Given the description of an element on the screen output the (x, y) to click on. 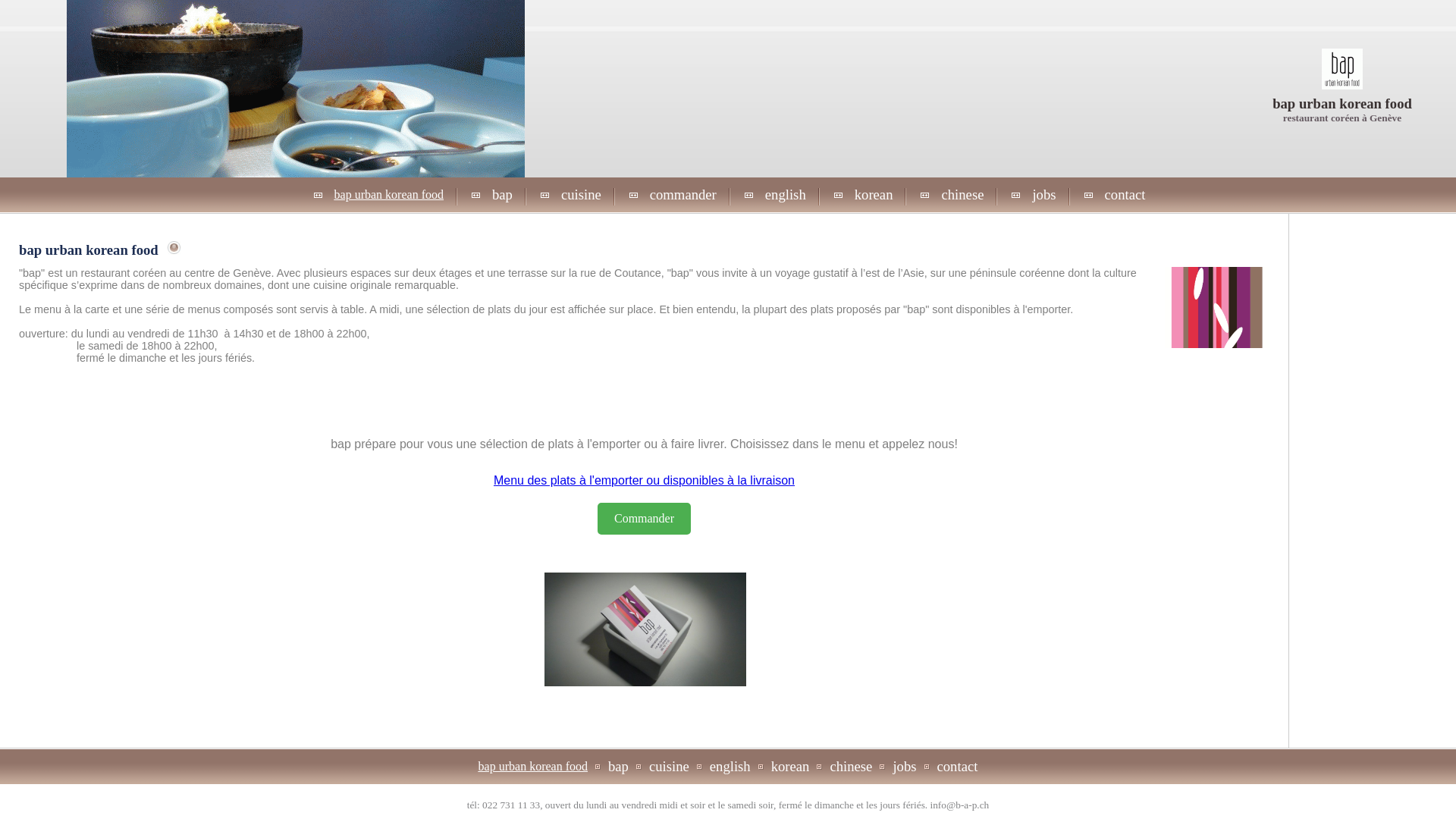
Commander Element type: text (643, 518)
jobs Element type: text (1043, 194)
chinese Element type: text (961, 194)
bap Element type: text (501, 194)
cuisine Element type: text (580, 194)
english Element type: text (729, 766)
cuisine Element type: text (669, 766)
korean Element type: text (790, 766)
bap urban korean food Element type: text (388, 194)
contact Element type: text (1125, 194)
korean Element type: text (873, 194)
bap urban korean food Element type: text (532, 765)
bap Element type: text (618, 766)
jobs Element type: text (904, 766)
contact Element type: text (957, 766)
chinese Element type: text (850, 766)
commander Element type: text (682, 194)
english Element type: text (785, 194)
